Given the description of an element on the screen output the (x, y) to click on. 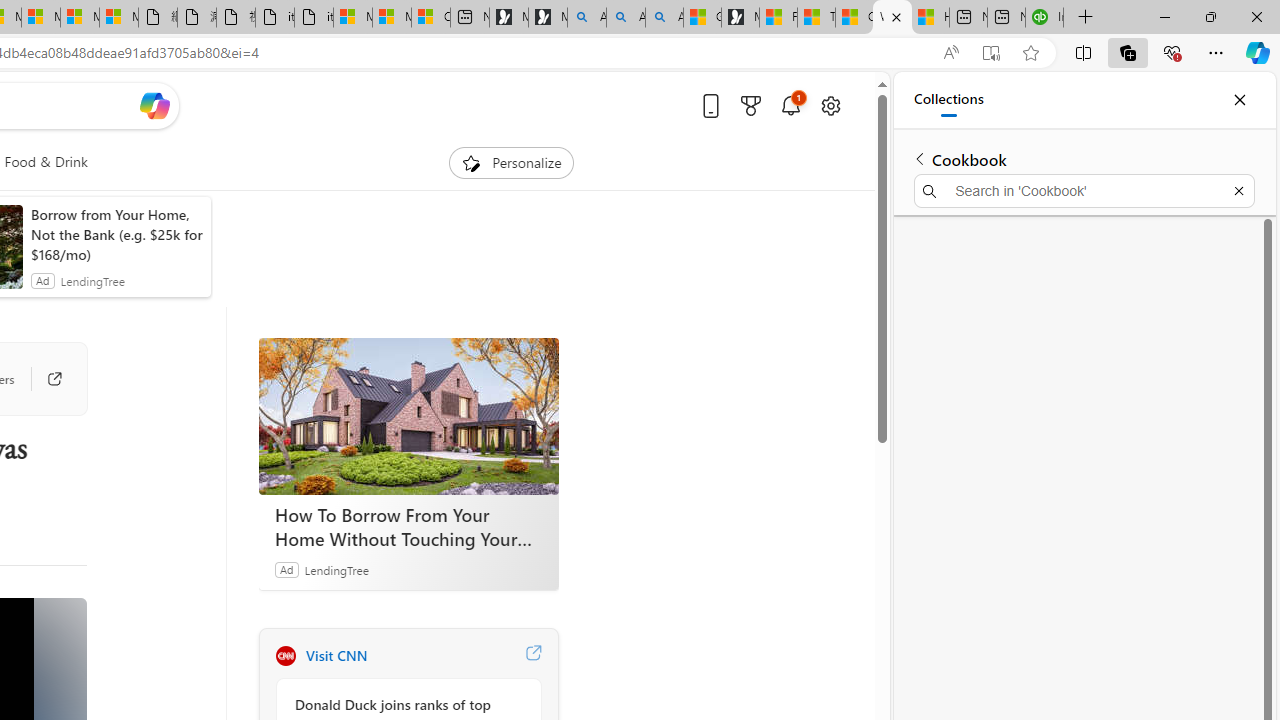
Intuit QuickBooks Online - Quickbooks (1044, 17)
itconcepthk.com/projector_solutions.mp4 (313, 17)
Consumer Health Data Privacy Policy (431, 17)
